Given the description of an element on the screen output the (x, y) to click on. 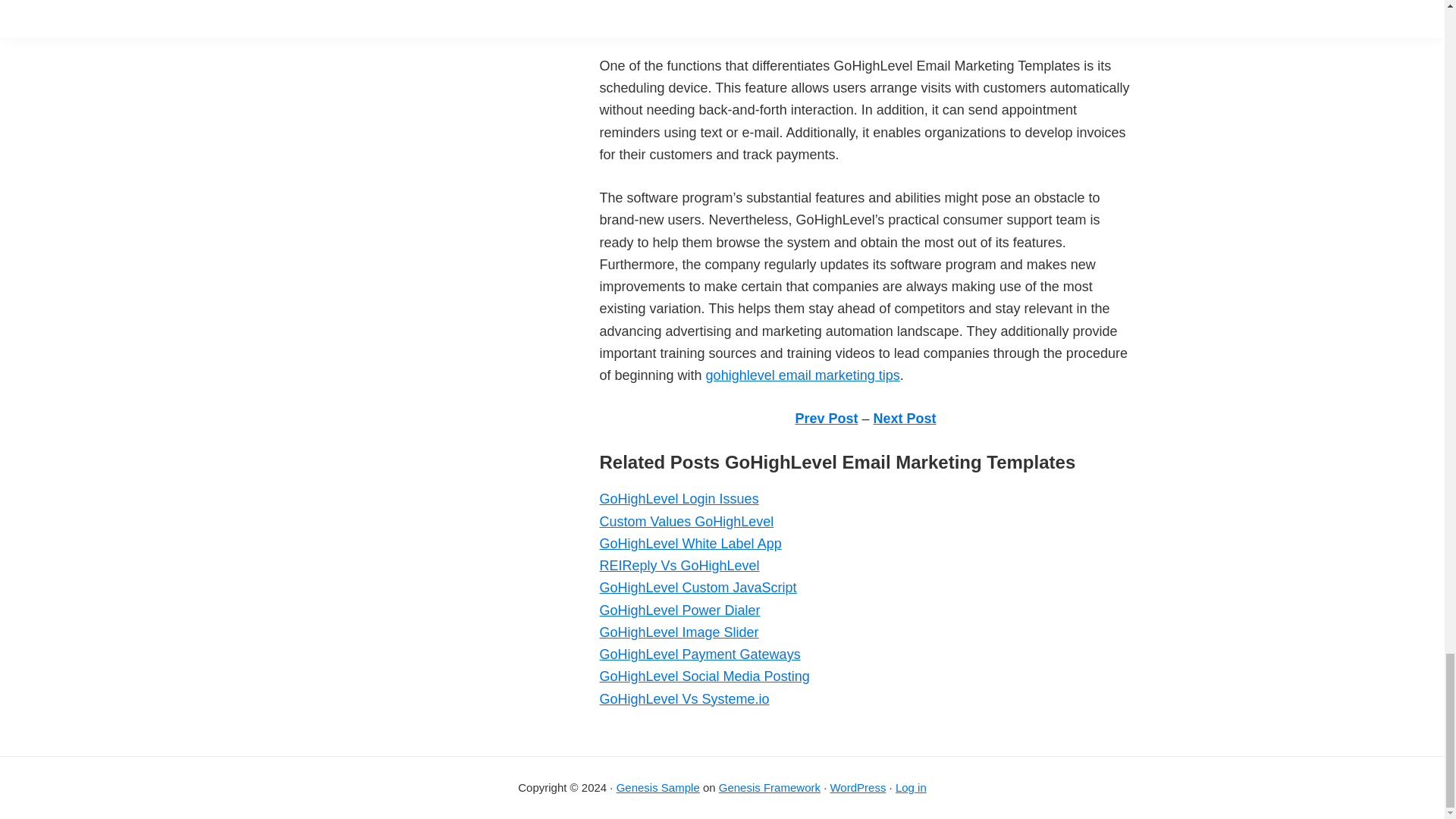
GoHighLevel Social Media Posting (703, 676)
GoHighLevel White Label App (689, 543)
GoHighLevel Social Media Posting (703, 676)
Custom Values GoHighLevel (685, 521)
Genesis Framework (770, 787)
Custom Values GoHighLevel (685, 521)
WordPress (857, 787)
GoHighLevel White Label App (689, 543)
GoHighLevel Custom JavaScript (697, 587)
GoHighLevel Image Slider (678, 631)
Log in (910, 787)
Prev Post (825, 418)
GoHighLevel Image Slider (678, 631)
gohighlevel email marketing tips (802, 375)
GoHighLevel Power Dialer (679, 610)
